Given the description of an element on the screen output the (x, y) to click on. 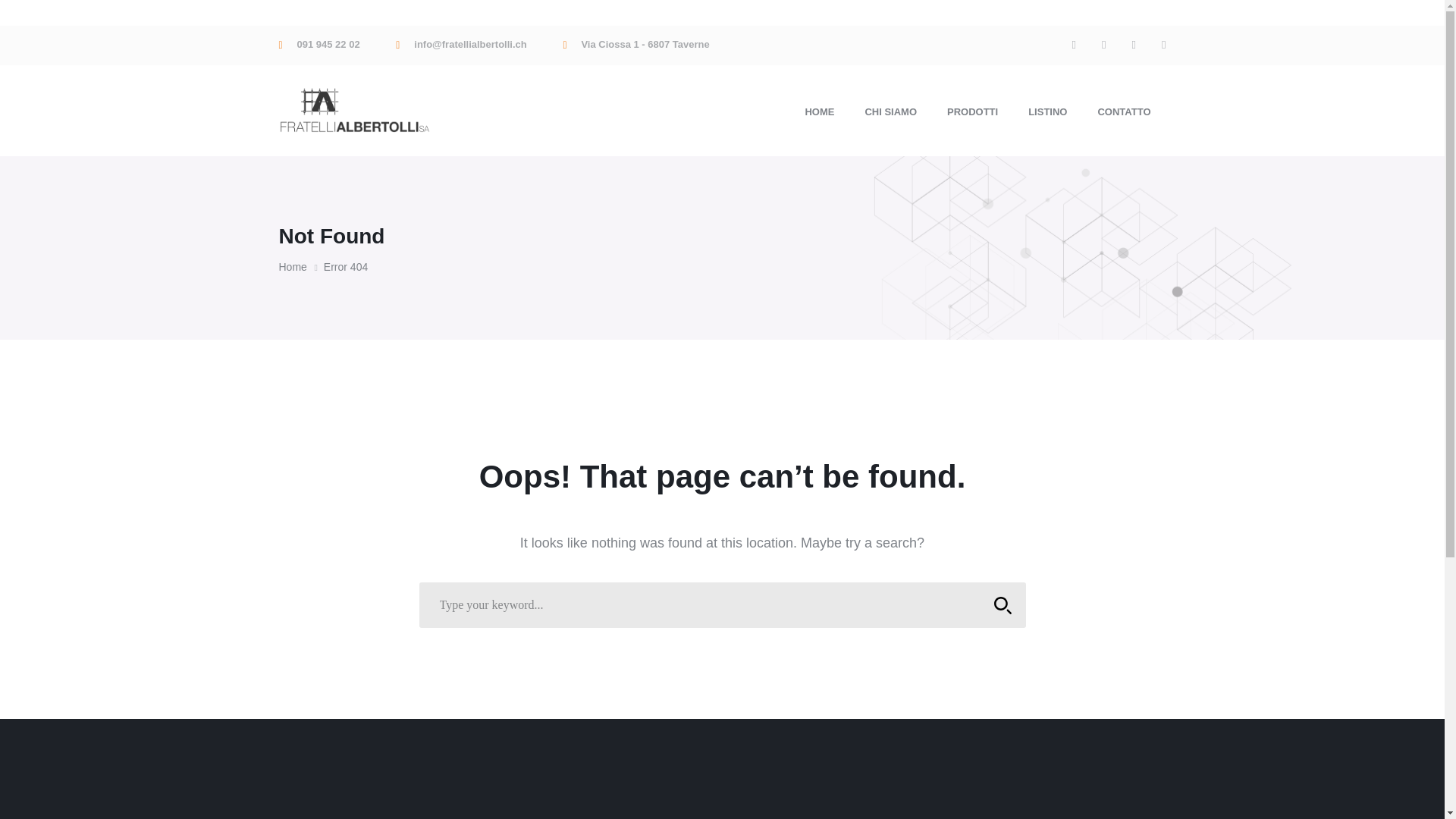
Search for: (722, 605)
Fratelli Albertolli SA (354, 109)
Home (301, 266)
Search (1002, 605)
SEARCH (1002, 605)
